Given the description of an element on the screen output the (x, y) to click on. 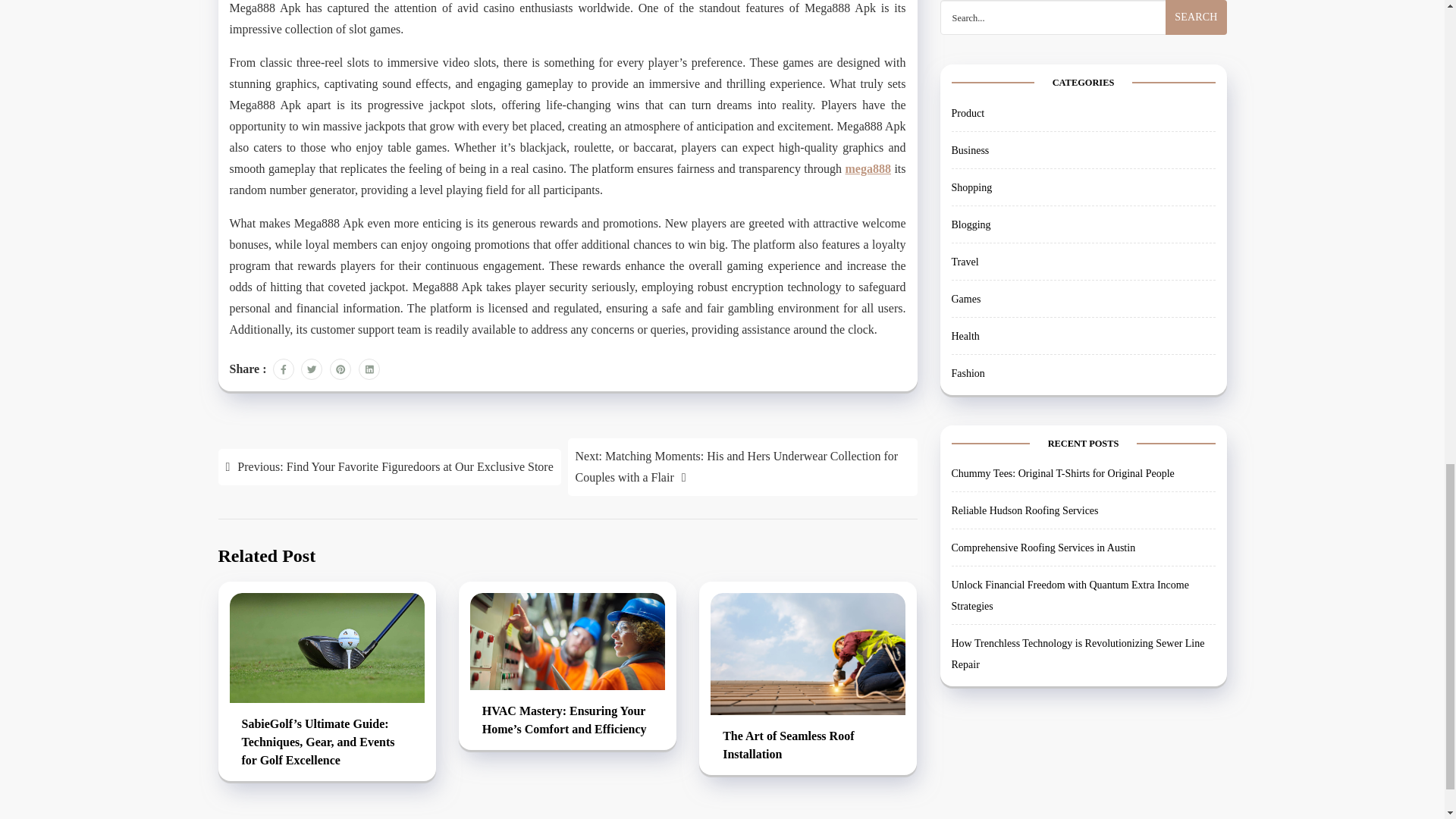
mega888 (868, 168)
